Given the description of an element on the screen output the (x, y) to click on. 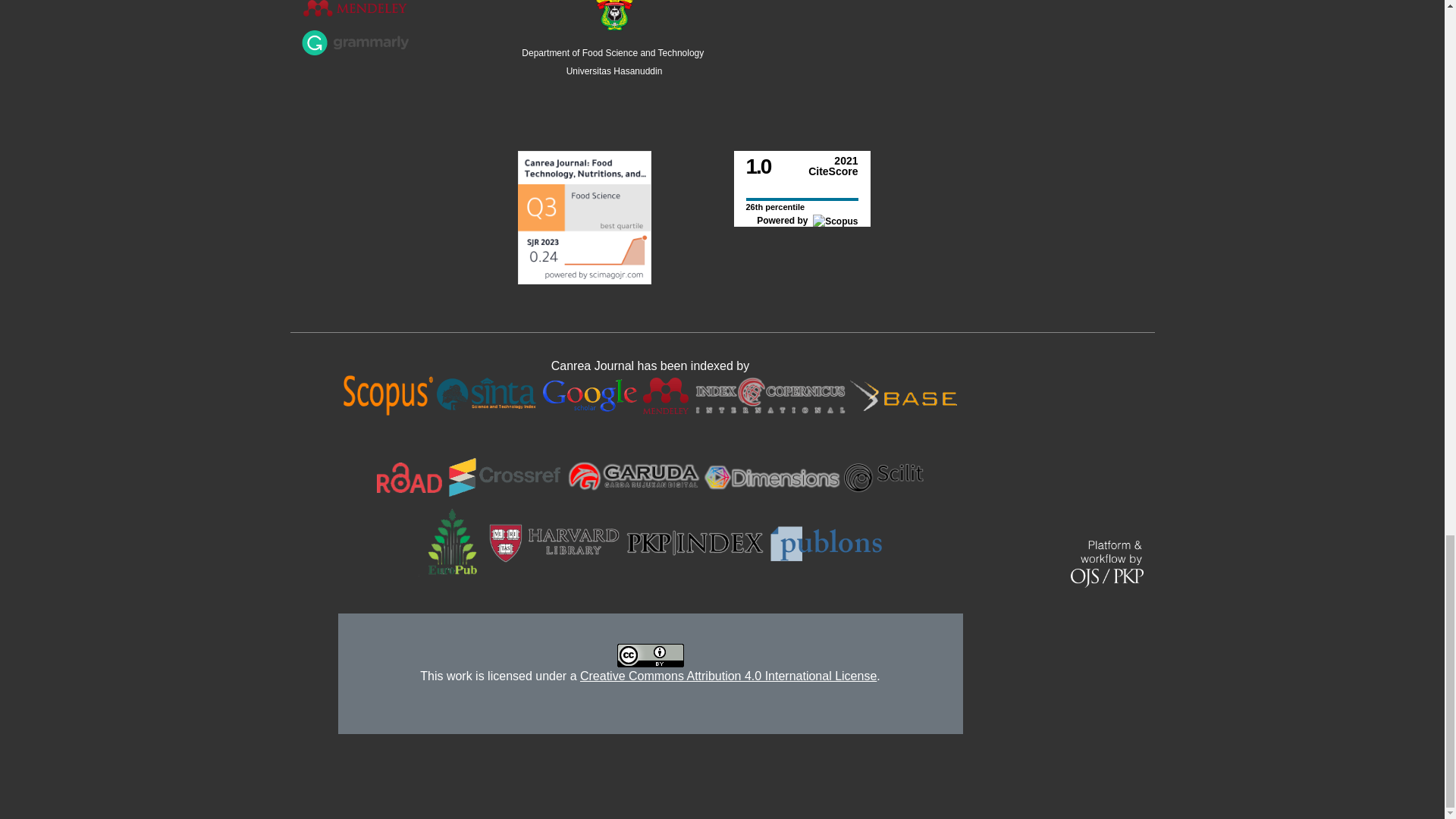
scholar (590, 394)
base (902, 394)
Sinta (485, 394)
index copernicus (770, 394)
road (409, 476)
mendeley (665, 394)
